Given the description of an element on the screen output the (x, y) to click on. 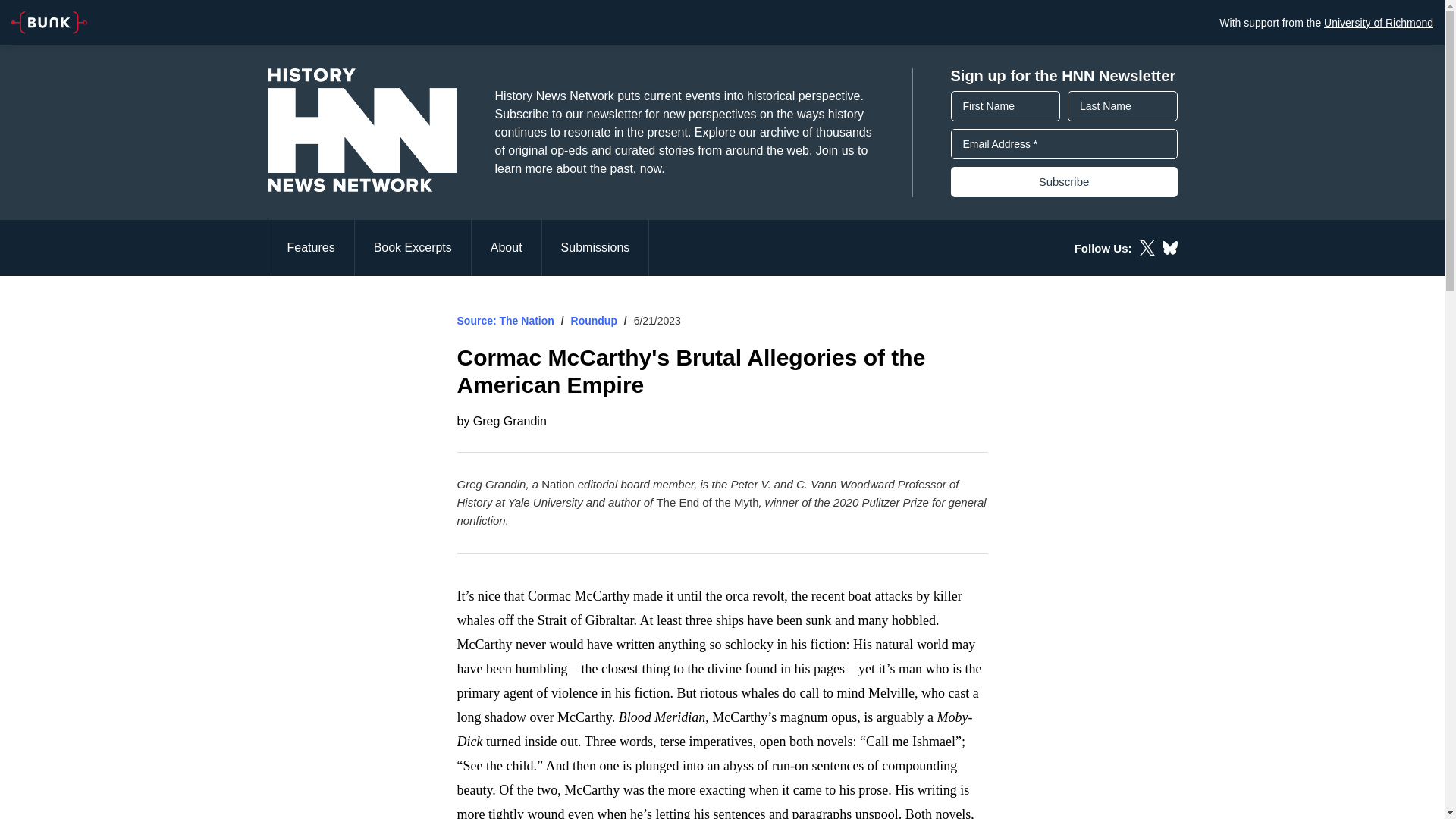
Source: The Nation (505, 320)
Subscribe (1063, 182)
Features (309, 248)
University of Richmond (1377, 22)
Roundup (593, 320)
About (506, 248)
Follow HNN on X, formerly Twitter (1146, 247)
Submissions (595, 248)
Follow HNN on Bluesky (1168, 247)
Subscribe (1063, 182)
Book Excerpts (413, 248)
